Given the description of an element on the screen output the (x, y) to click on. 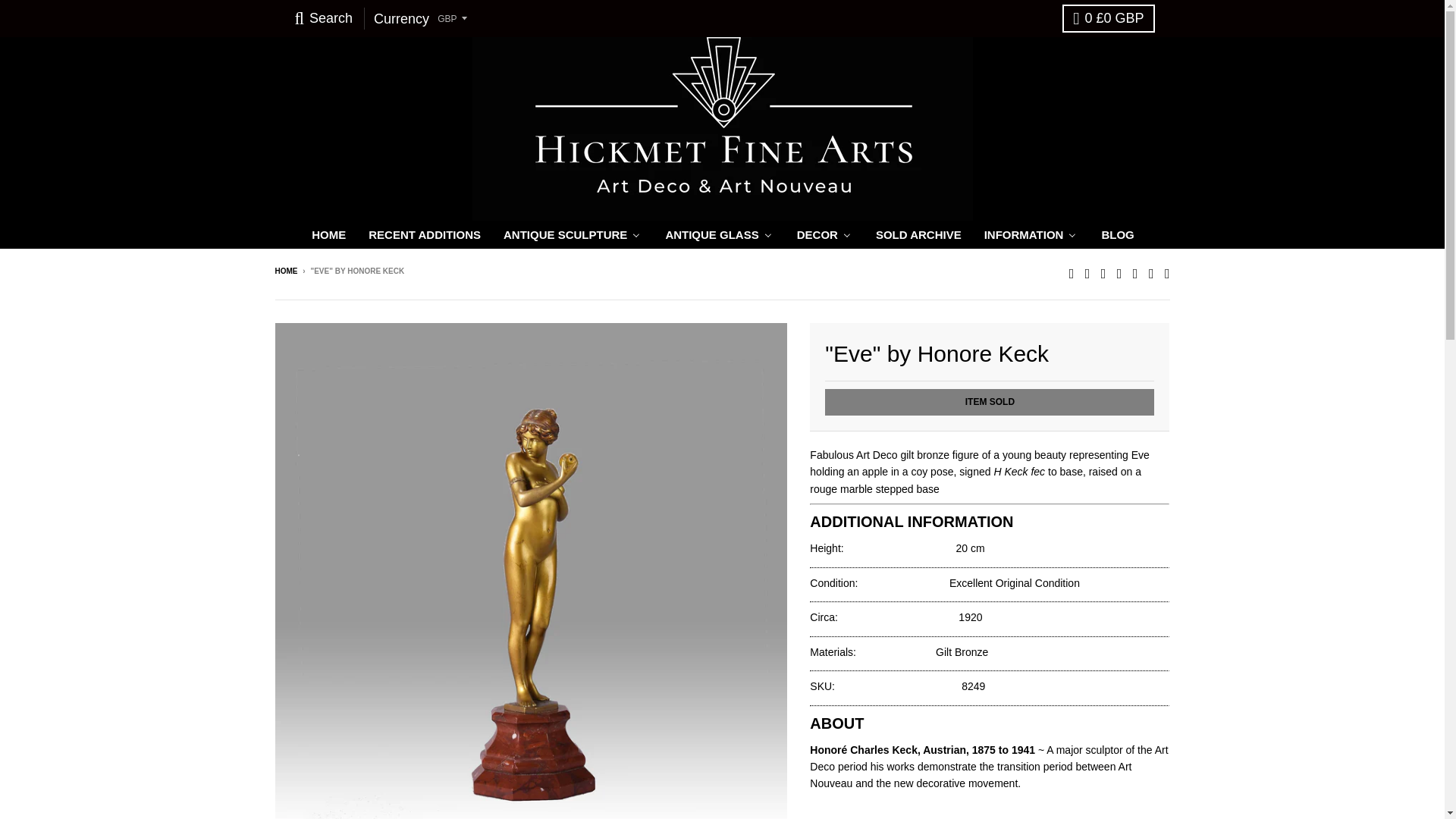
DECOR (823, 234)
ANTIQUE SCULPTURE (572, 234)
SOLD ARCHIVE (917, 234)
BLOG (1116, 234)
HOME (327, 234)
Search (322, 18)
INFORMATION (1030, 234)
Back to the frontpage (286, 270)
ANTIQUE GLASS (718, 234)
RECENT ADDITIONS (424, 234)
